Given the description of an element on the screen output the (x, y) to click on. 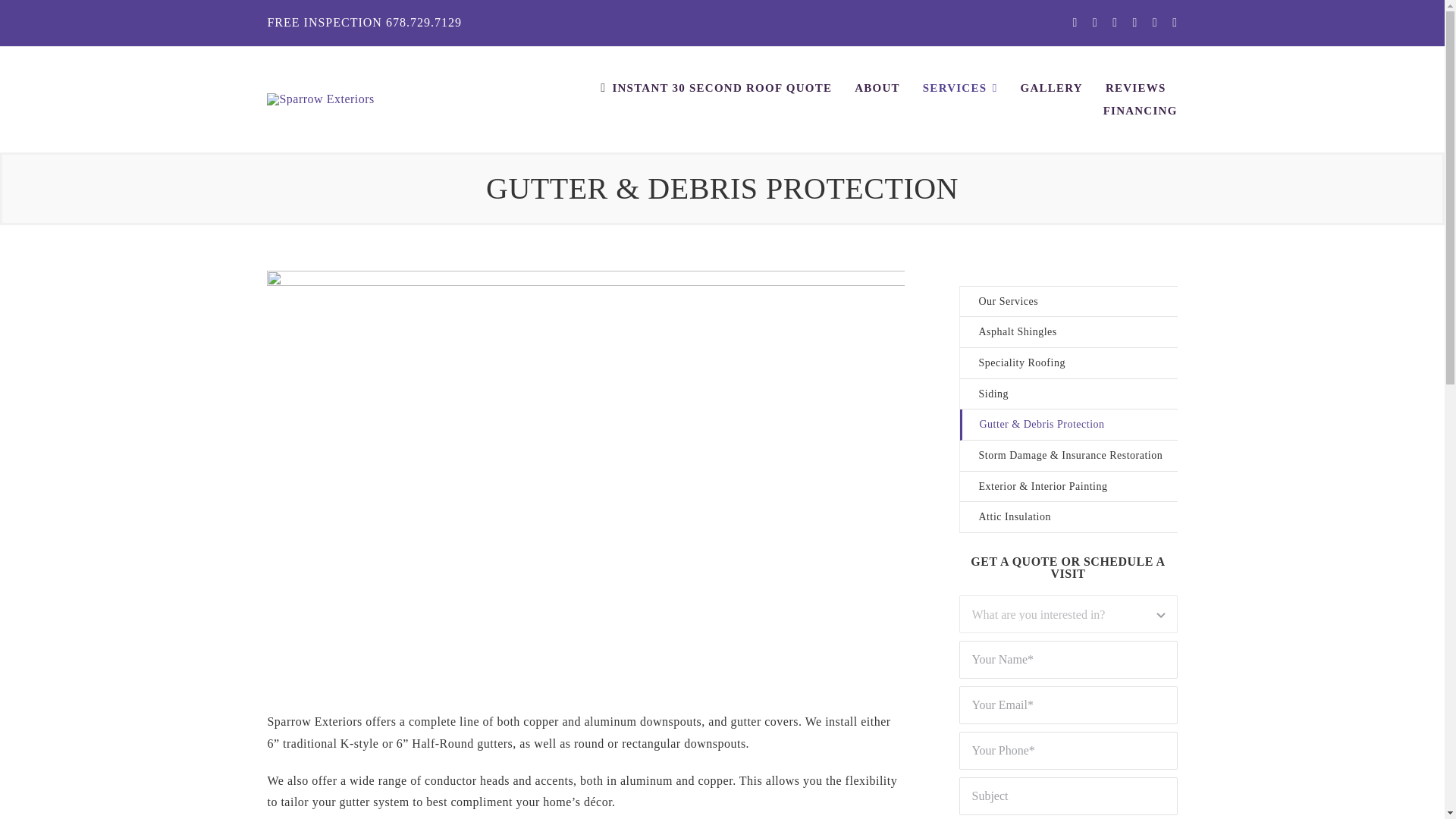
Speciality Roofing (1068, 363)
REVIEWS (1135, 87)
Siding (1068, 394)
Asphalt Shingles (1068, 332)
Our Services (1068, 301)
GALLERY (1051, 87)
678.729.7129 (423, 21)
SERVICES (960, 87)
Back to Parent Page (1068, 301)
